Given the description of an element on the screen output the (x, y) to click on. 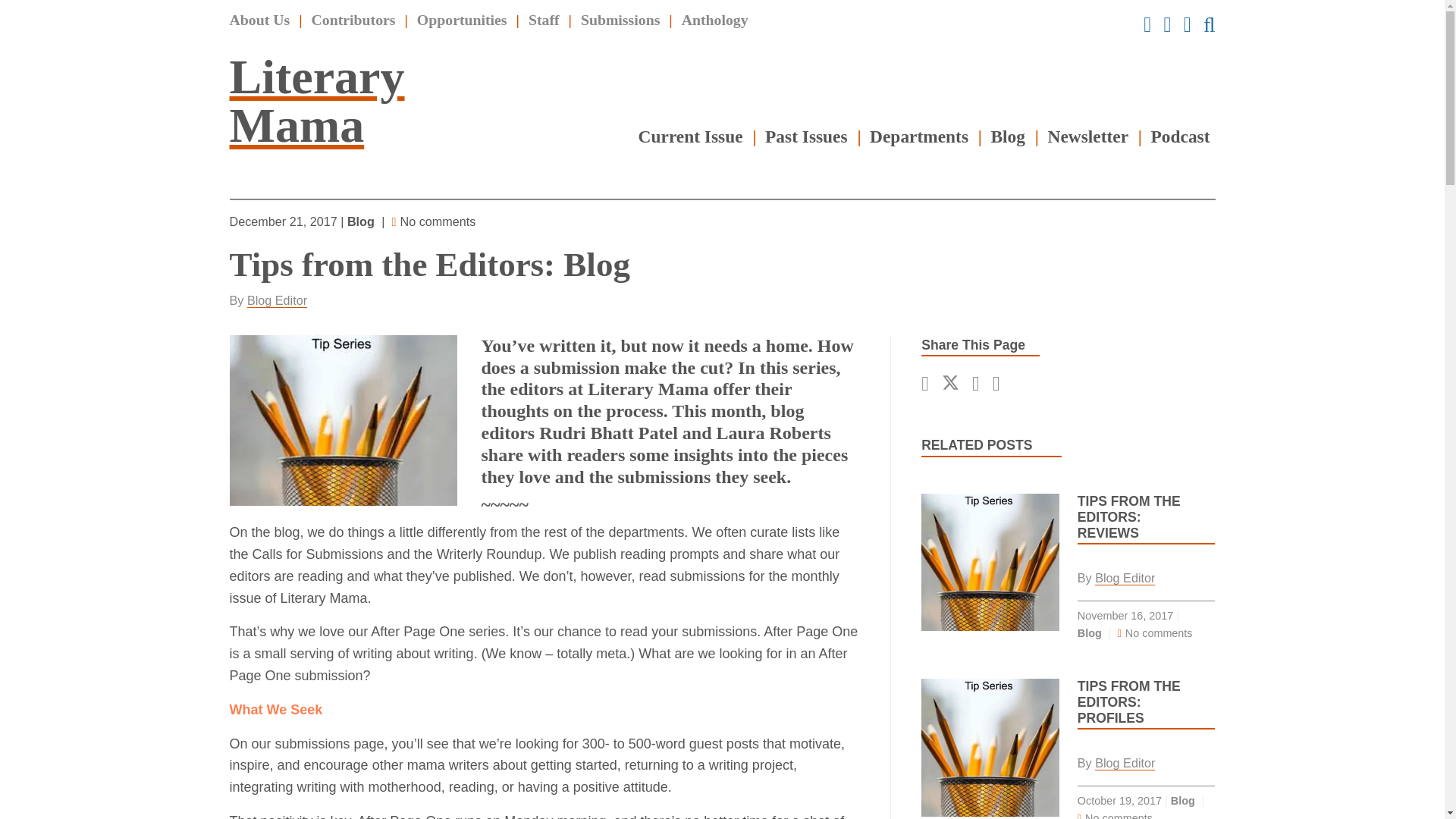
x (950, 382)
Blog (1008, 136)
Current Issue (690, 136)
December 21, 2017 (284, 221)
Staff (543, 19)
Podcast (1180, 136)
Literary Mama (316, 100)
About Us (258, 19)
Anthology (714, 19)
Blog Editor (277, 300)
Blog Editor (1124, 577)
Departments (918, 136)
Newsletter (1088, 136)
Contributors (353, 19)
No comments (437, 221)
